Given the description of an element on the screen output the (x, y) to click on. 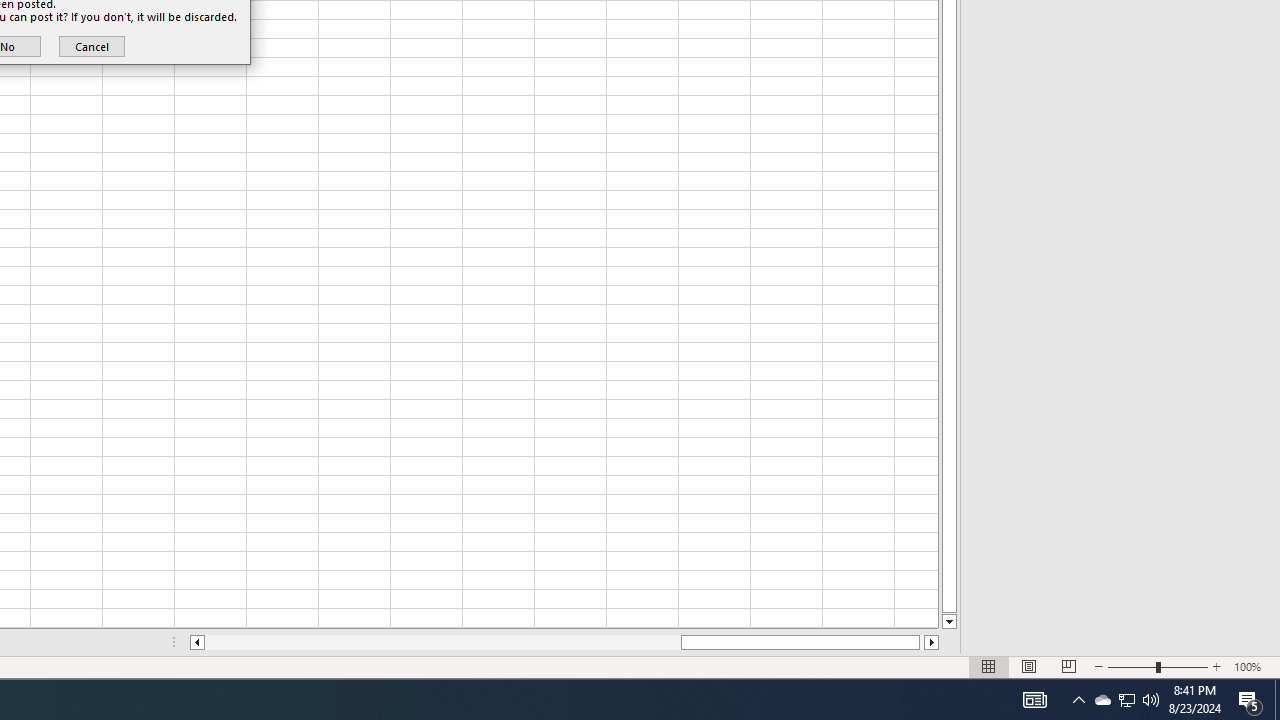
Zoom (1102, 699)
Zoom In (1126, 699)
Page Layout (1158, 667)
User Promoted Notification Area (1217, 667)
Cancel (1028, 667)
